Given the description of an element on the screen output the (x, y) to click on. 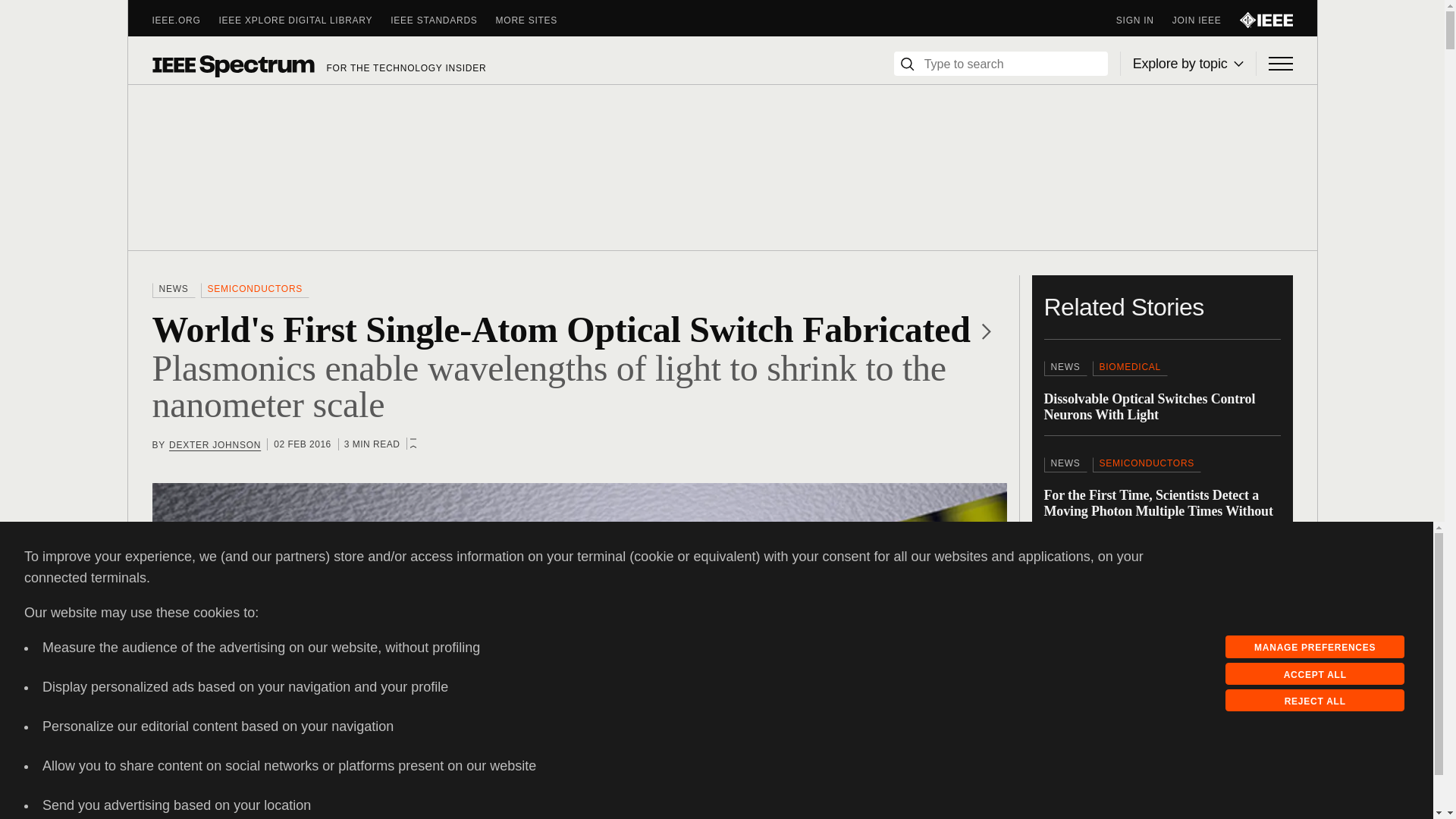
IEEE XPLORE DIGITAL LIBRARY (305, 20)
ACCEPT ALL (1315, 673)
Search (907, 63)
JOIN IEEE (1206, 20)
SIGN IN (1144, 20)
REJECT ALL (1315, 700)
MORE SITES (536, 20)
MANAGE PREFERENCES (1315, 646)
IEEE STANDARDS (442, 20)
Spectrum Logo (232, 64)
IEEE.ORG (184, 20)
